Given the description of an element on the screen output the (x, y) to click on. 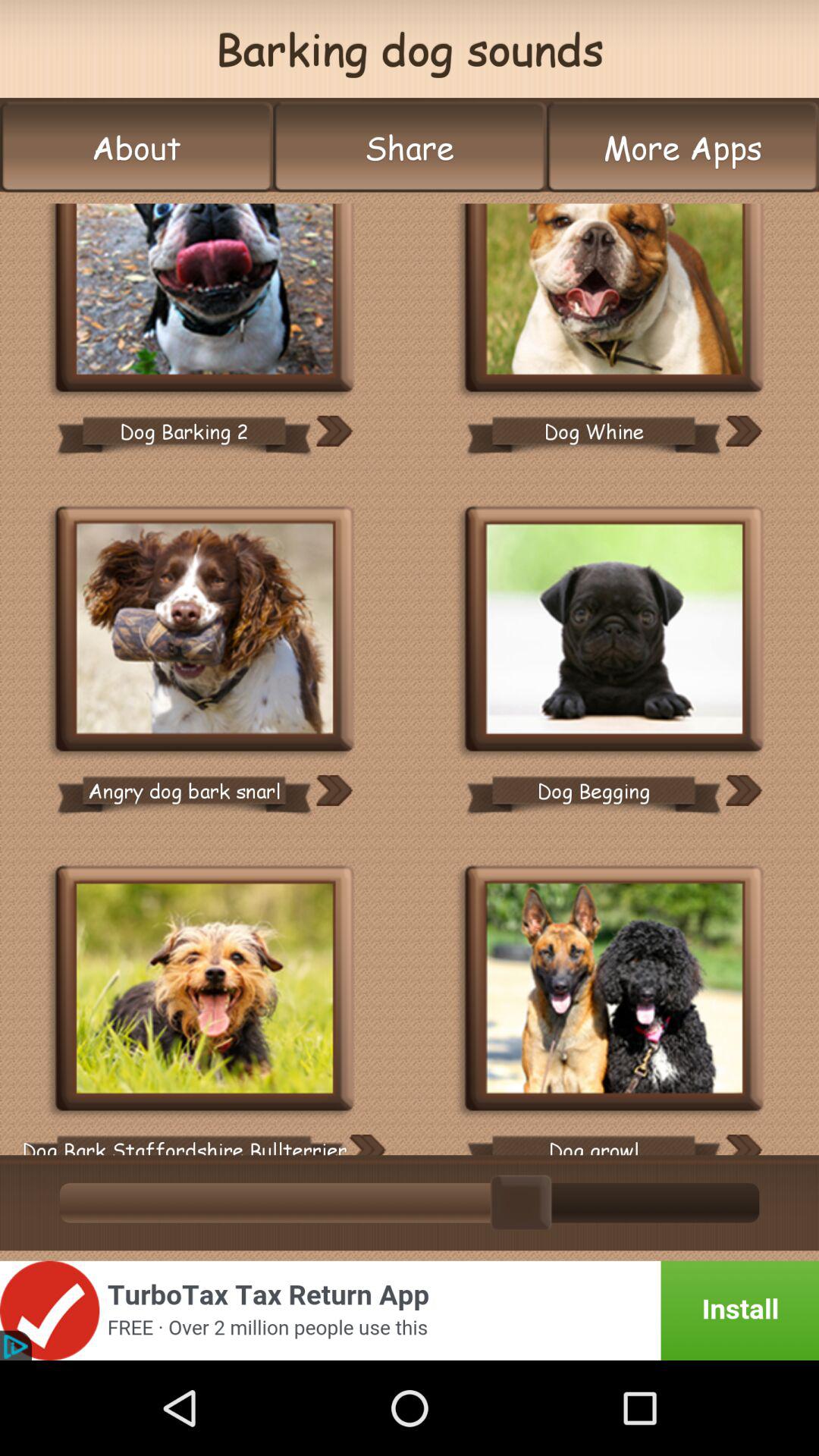
this lable to next image (333, 430)
